Given the description of an element on the screen output the (x, y) to click on. 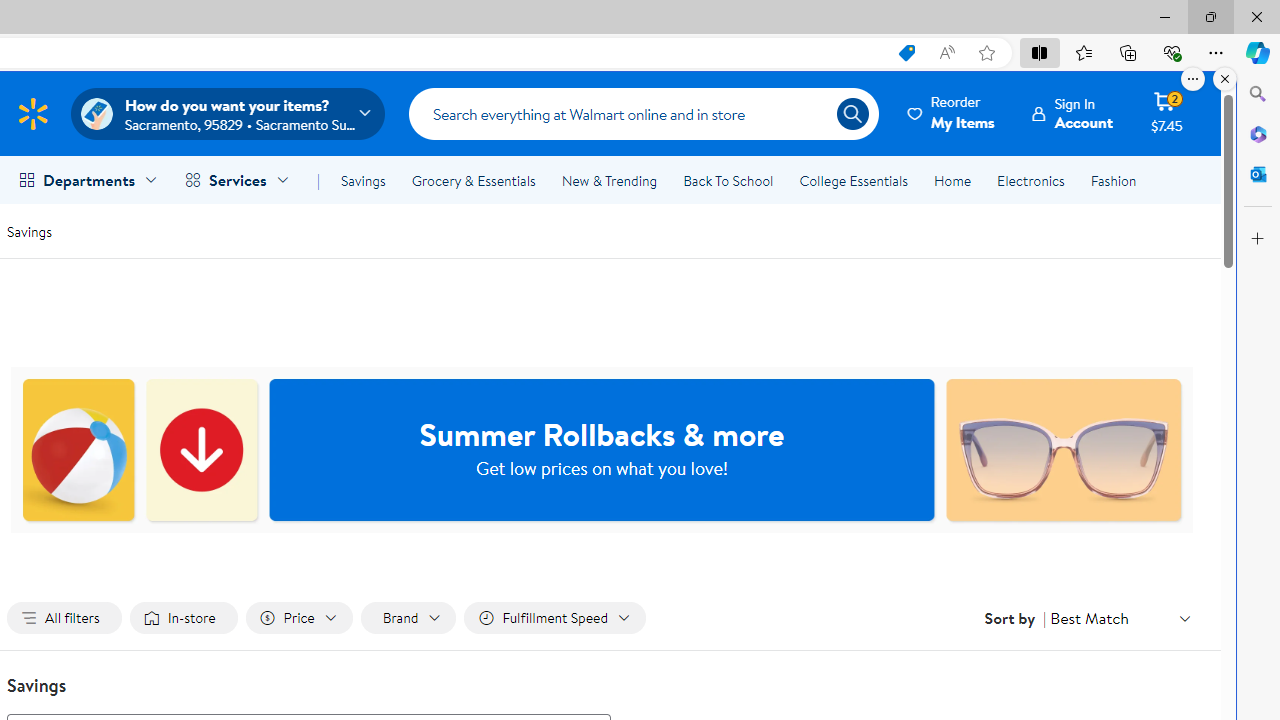
Back To School (728, 180)
New & Trending (608, 180)
Filter by Brand not applied, activate to change (407, 618)
Summer Rollbacks & more Get low prices on what you love! (601, 449)
Grocery & Essentials (473, 180)
Class: ld ld-ChevronDown pa0 ml6 (1184, 618)
Electronics (1030, 180)
More options. (1193, 79)
Fashion (1113, 180)
